Given the description of an element on the screen output the (x, y) to click on. 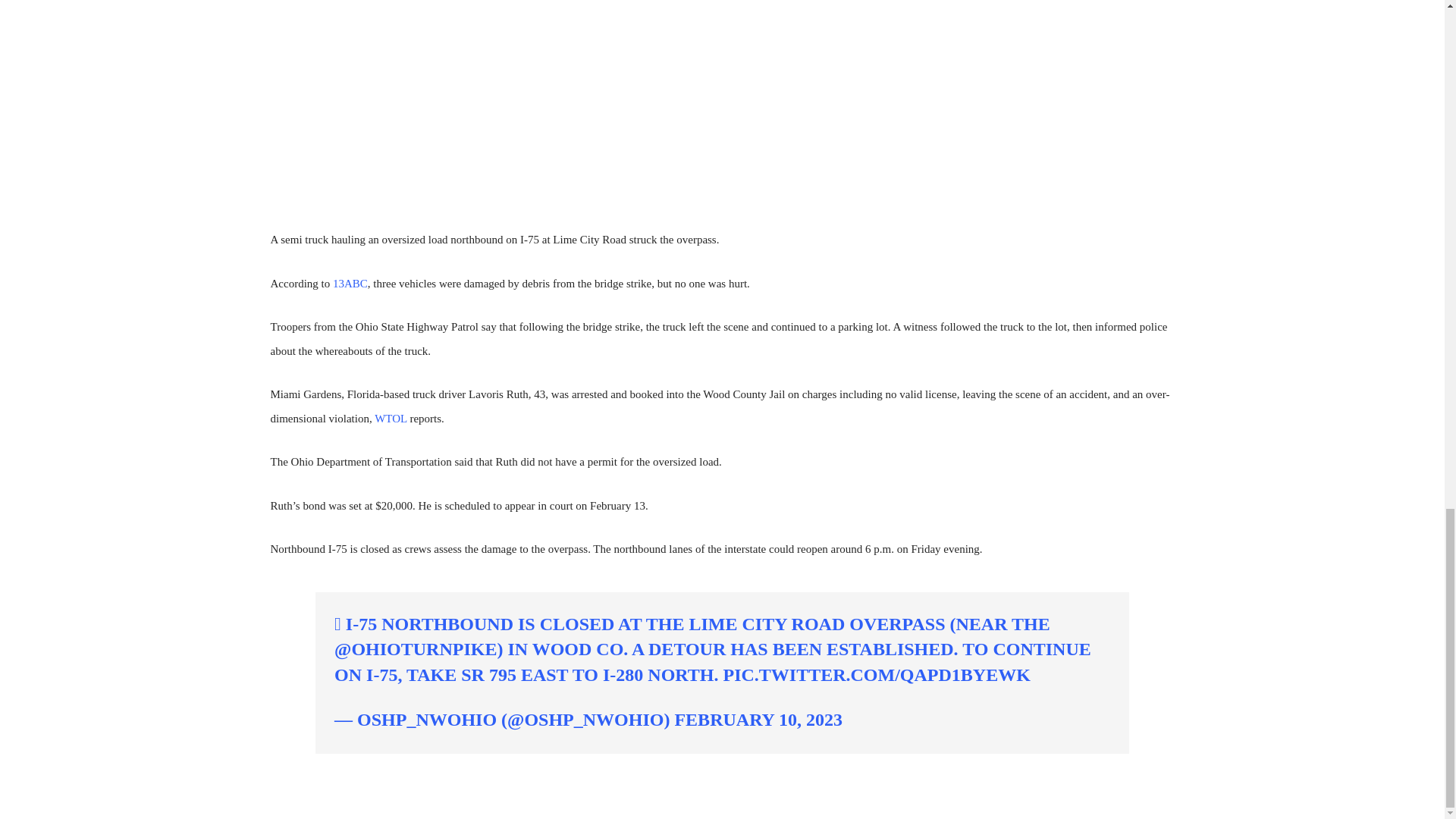
WTOL (390, 418)
13ABC (350, 283)
FEBRUARY 10, 2023 (758, 719)
